Given the description of an element on the screen output the (x, y) to click on. 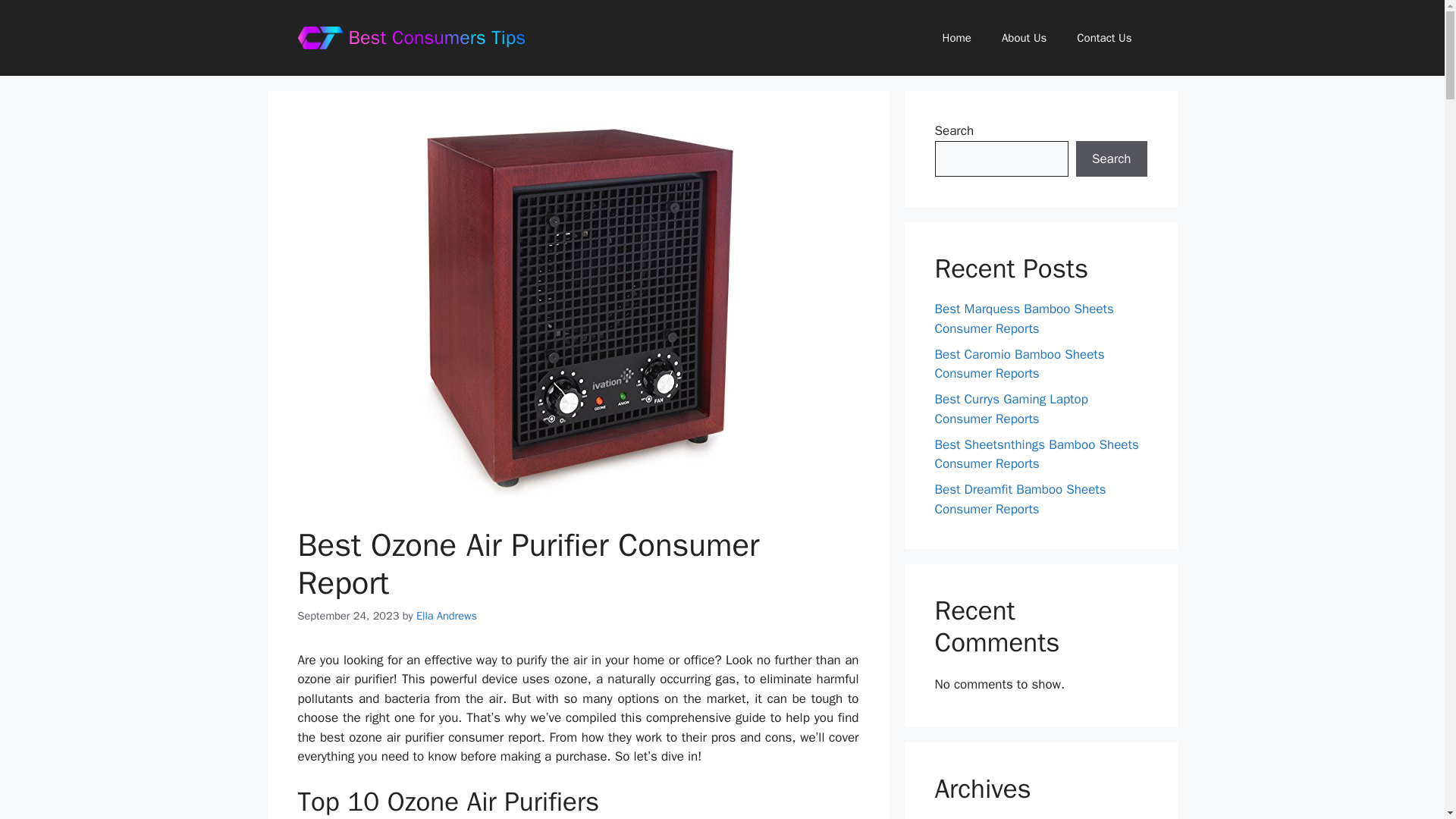
View all posts by Ella Andrews (446, 615)
About Us (1024, 37)
Best Consumers Tips (437, 37)
Ella Andrews (446, 615)
Contact Us (1104, 37)
Home (957, 37)
